Given the description of an element on the screen output the (x, y) to click on. 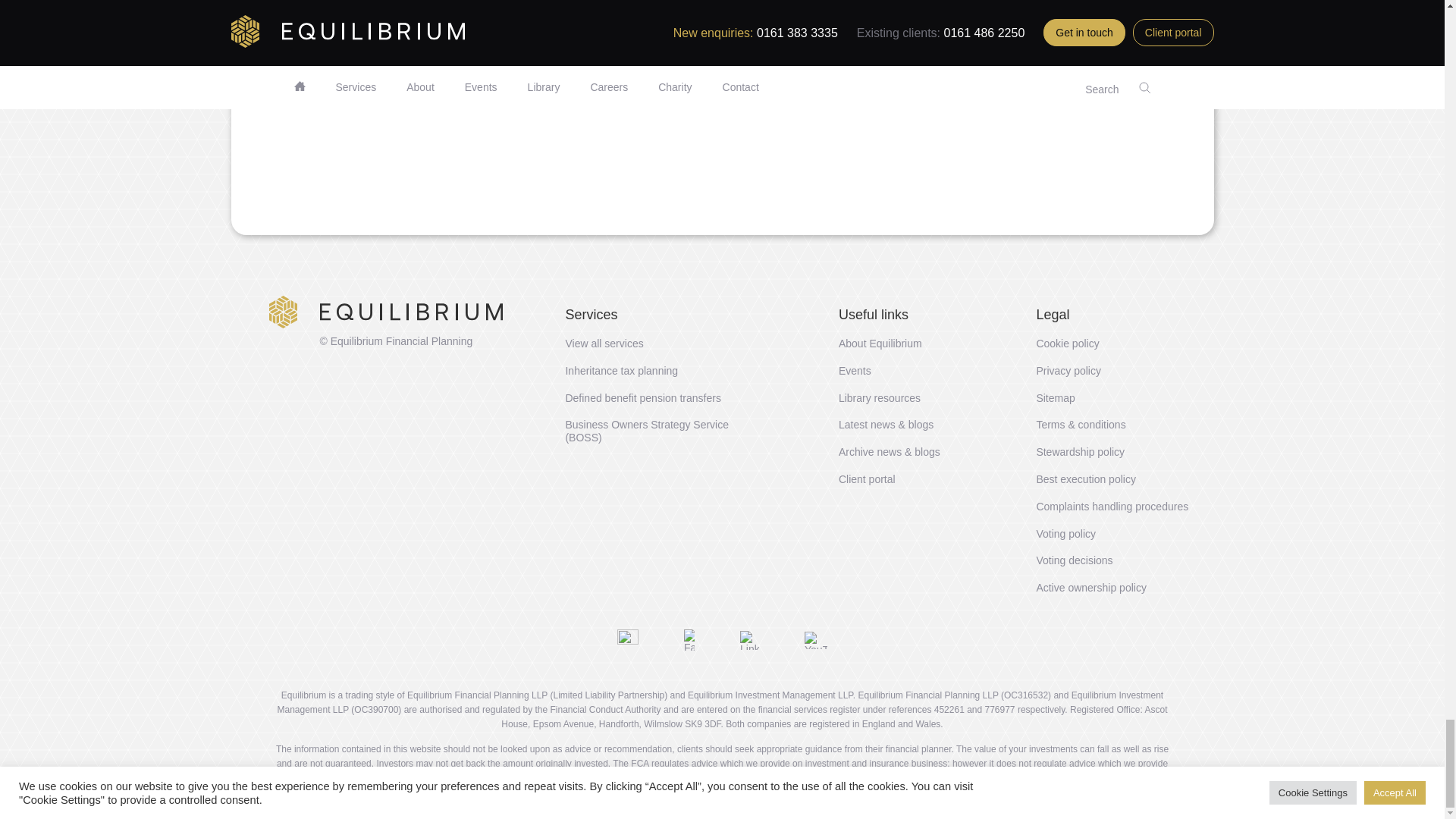
Submit (389, 188)
